Given the description of an element on the screen output the (x, y) to click on. 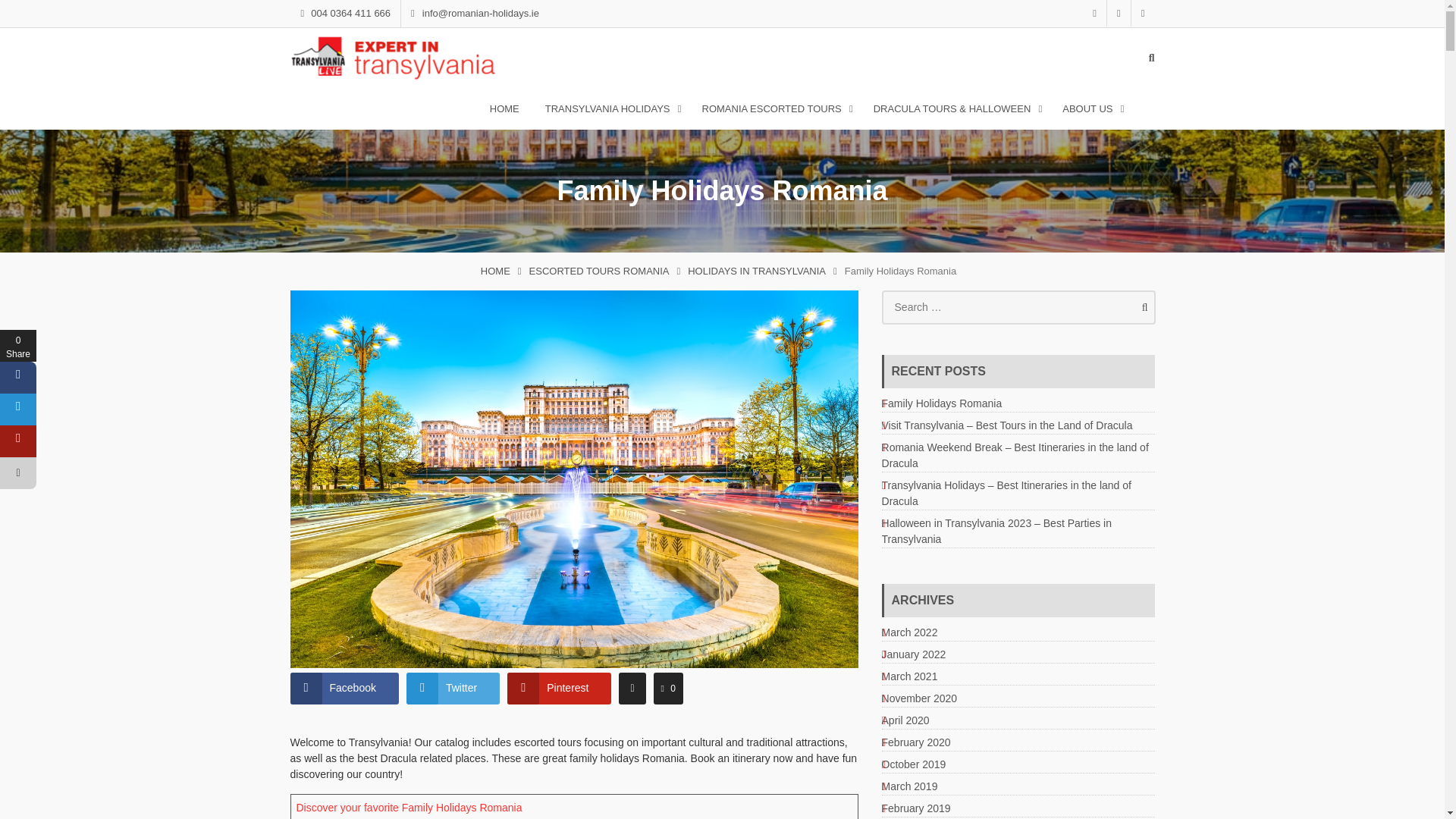
YouTube (1142, 13)
Facebook (1094, 13)
HOME (504, 108)
004 0364 411 666 (344, 13)
Twitter (1118, 13)
